Given the description of an element on the screen output the (x, y) to click on. 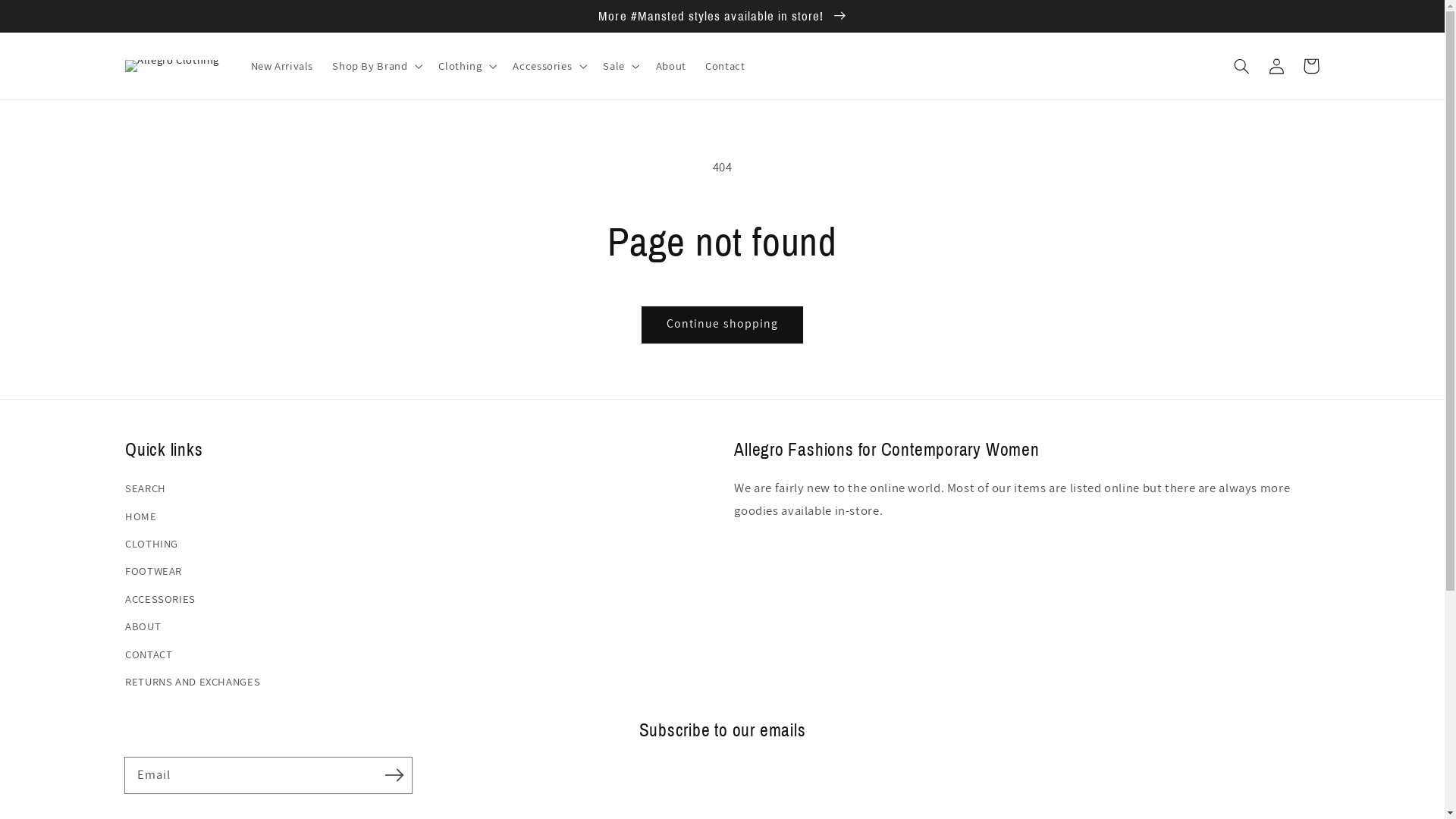
More #Mansted styles available in store! Element type: text (722, 15)
CONTACT Element type: text (148, 653)
Cart Element type: text (1310, 65)
Contact Element type: text (725, 65)
SEARCH Element type: text (145, 490)
FOOTWEAR Element type: text (153, 570)
About Element type: text (670, 65)
Log in Element type: text (1275, 65)
RETURNS AND EXCHANGES Element type: text (192, 681)
HOME Element type: text (140, 515)
New Arrivals Element type: text (282, 65)
ACCESSORIES Element type: text (160, 598)
ABOUT Element type: text (142, 626)
Continue shopping Element type: text (722, 324)
CLOTHING Element type: text (151, 543)
